Given the description of an element on the screen output the (x, y) to click on. 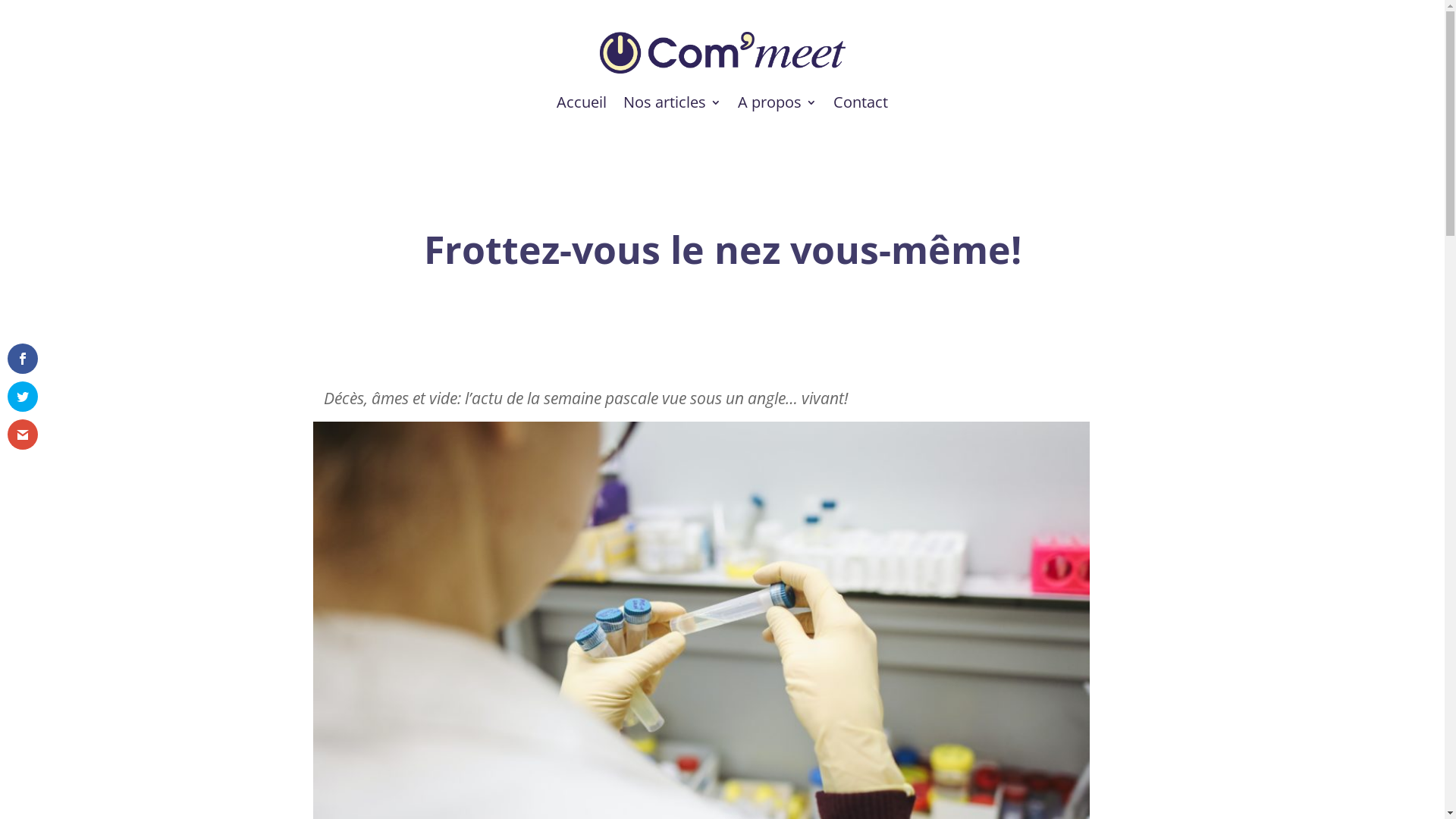
Accueil Element type: text (581, 102)
A propos Element type: text (776, 102)
Nos articles Element type: text (672, 102)
Contact Element type: text (860, 102)
